Given the description of an element on the screen output the (x, y) to click on. 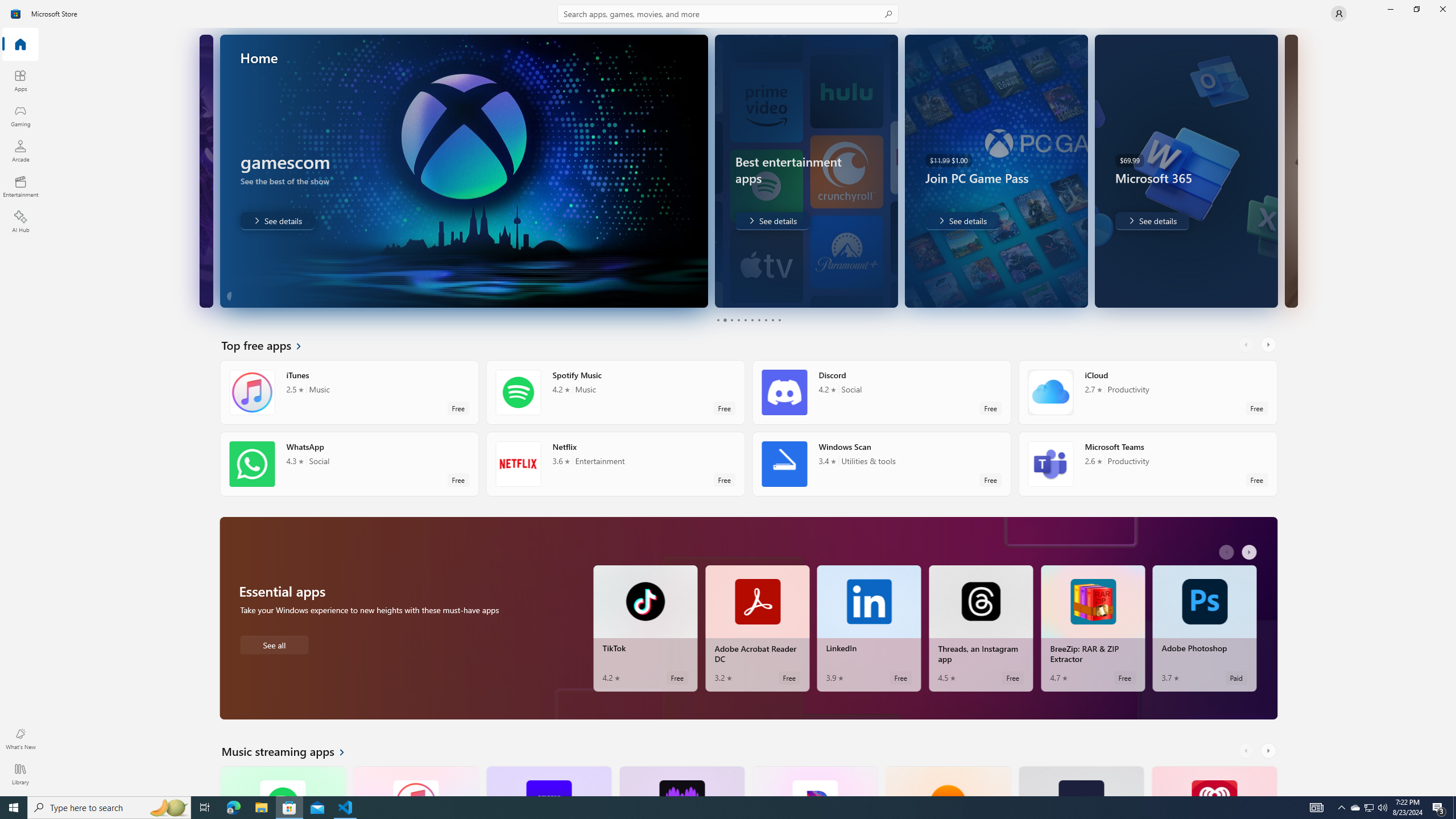
WhatsApp. Average rating of 4.3 out of five stars. Free   (349, 463)
Page 5 (744, 319)
Entertainment (20, 185)
AI Hub (20, 221)
AutomationID: LeftScrollButton (1246, 750)
See all  Essential apps (274, 644)
Page 3 (731, 319)
LinkedIn. Average rating of 3.9 out of five stars. Free   (868, 628)
See all  Music streaming apps (289, 750)
